Given the description of an element on the screen output the (x, y) to click on. 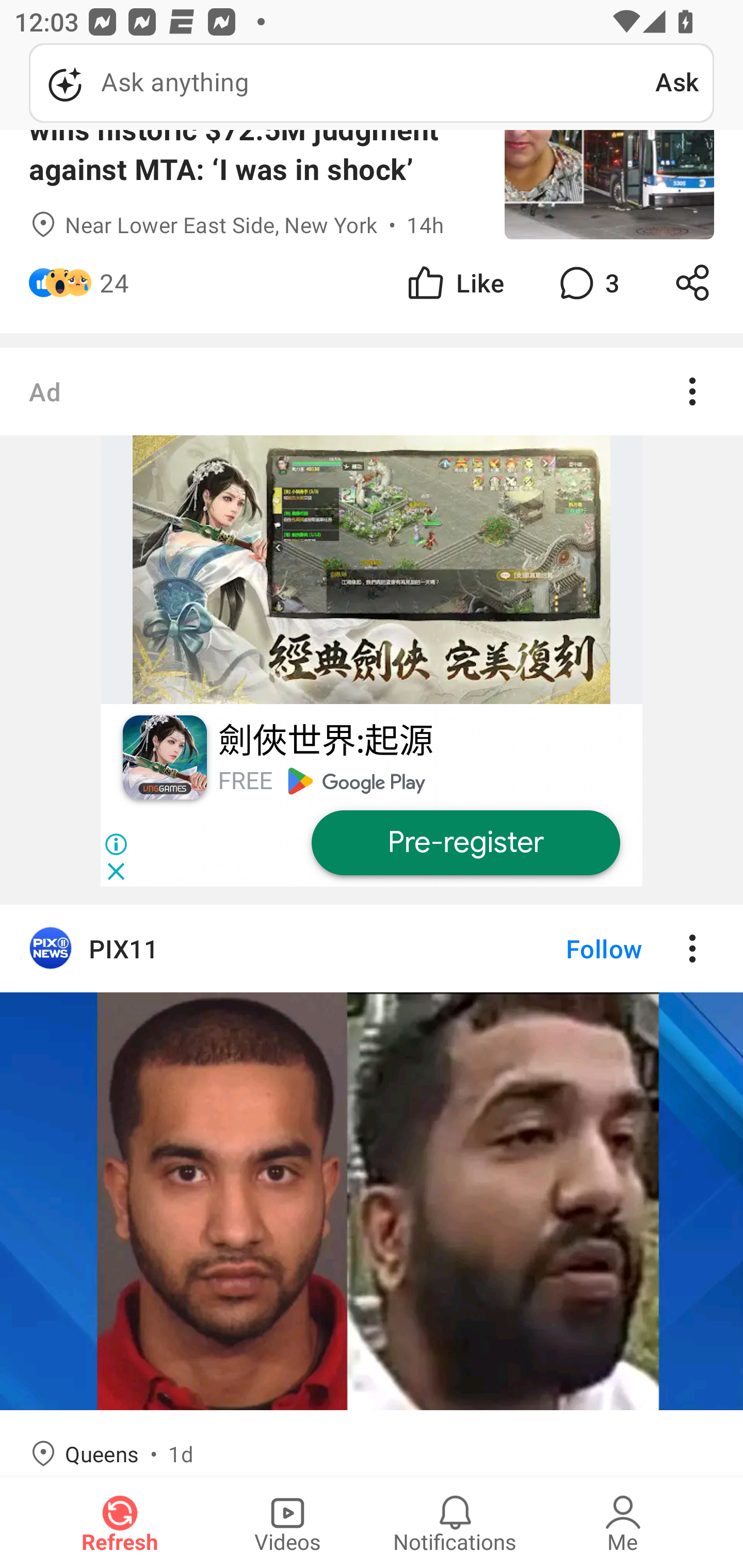
Ask anything (341, 82)
24 (114, 282)
Like (454, 282)
3 (587, 282)
劍俠世界:起源 (325, 741)
FREE (245, 780)
Pre-register (464, 843)
PIX11 Follow Queens   •  1d (371, 1190)
PIX11 Follow (371, 948)
Follow (569, 948)
Videos (287, 1522)
Notifications (455, 1522)
Me (622, 1522)
